Given the description of an element on the screen output the (x, y) to click on. 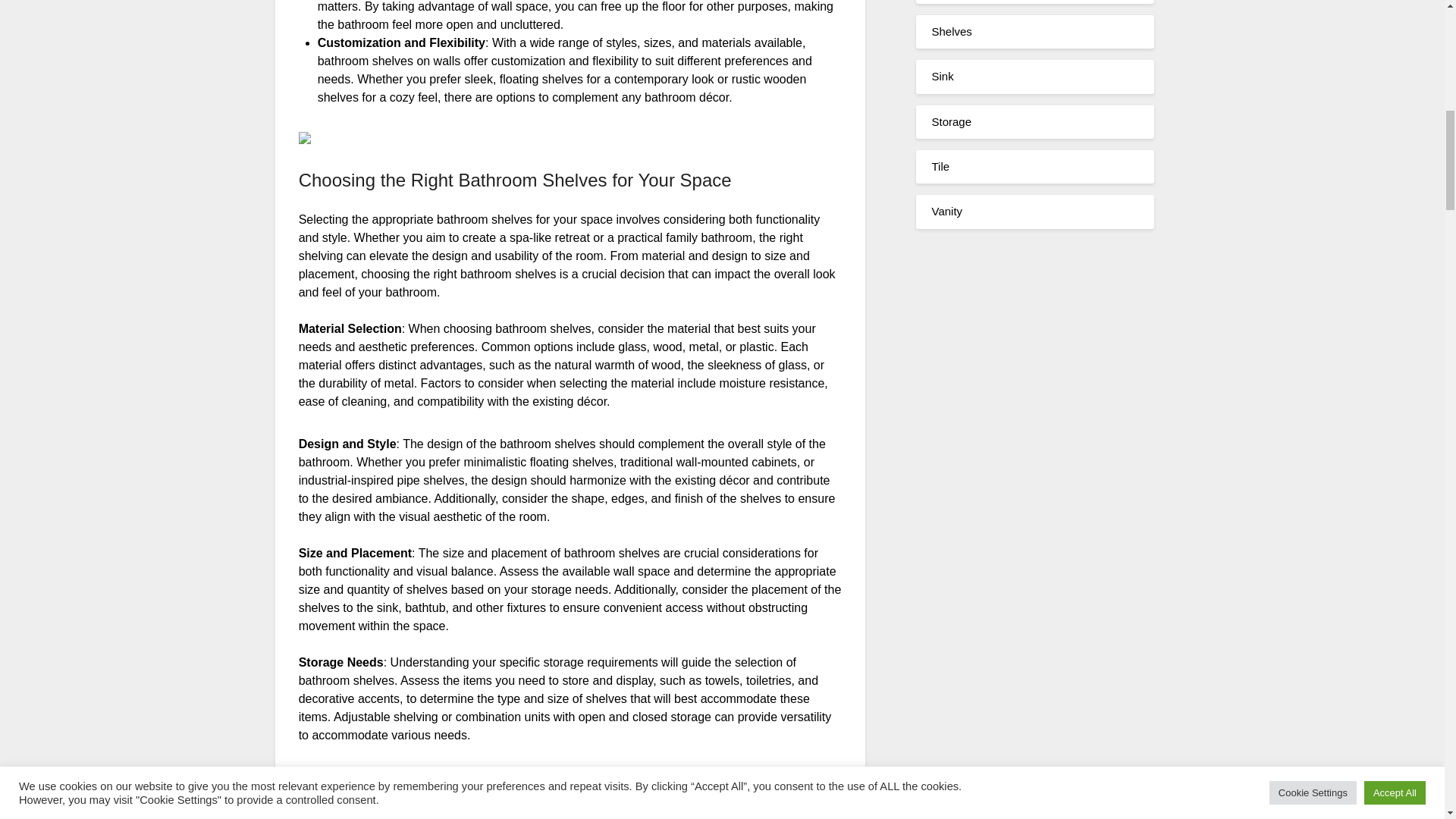
Shelves (951, 31)
Storage (951, 121)
Sink (942, 75)
Vanity (946, 210)
Tile (940, 165)
